Given the description of an element on the screen output the (x, y) to click on. 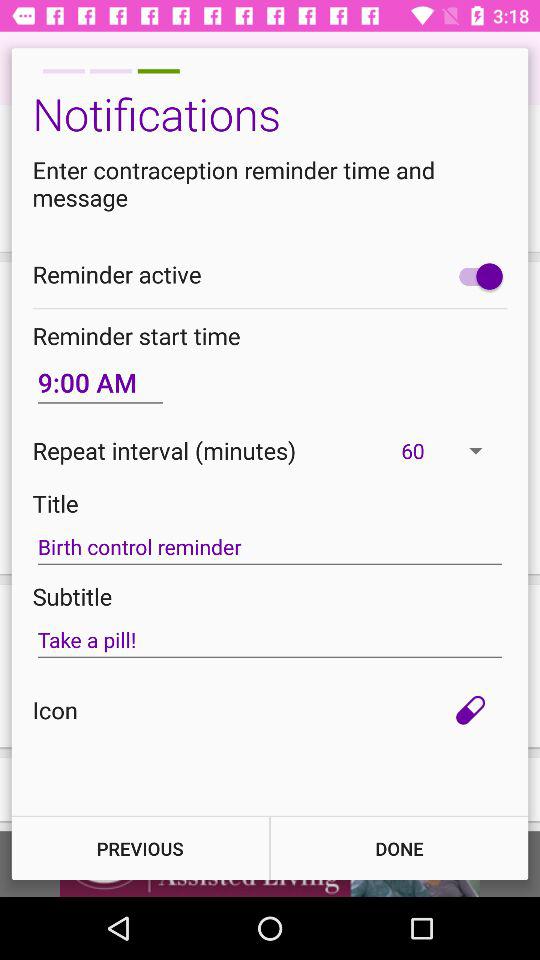
select item below the take a pill! item (470, 709)
